Given the description of an element on the screen output the (x, y) to click on. 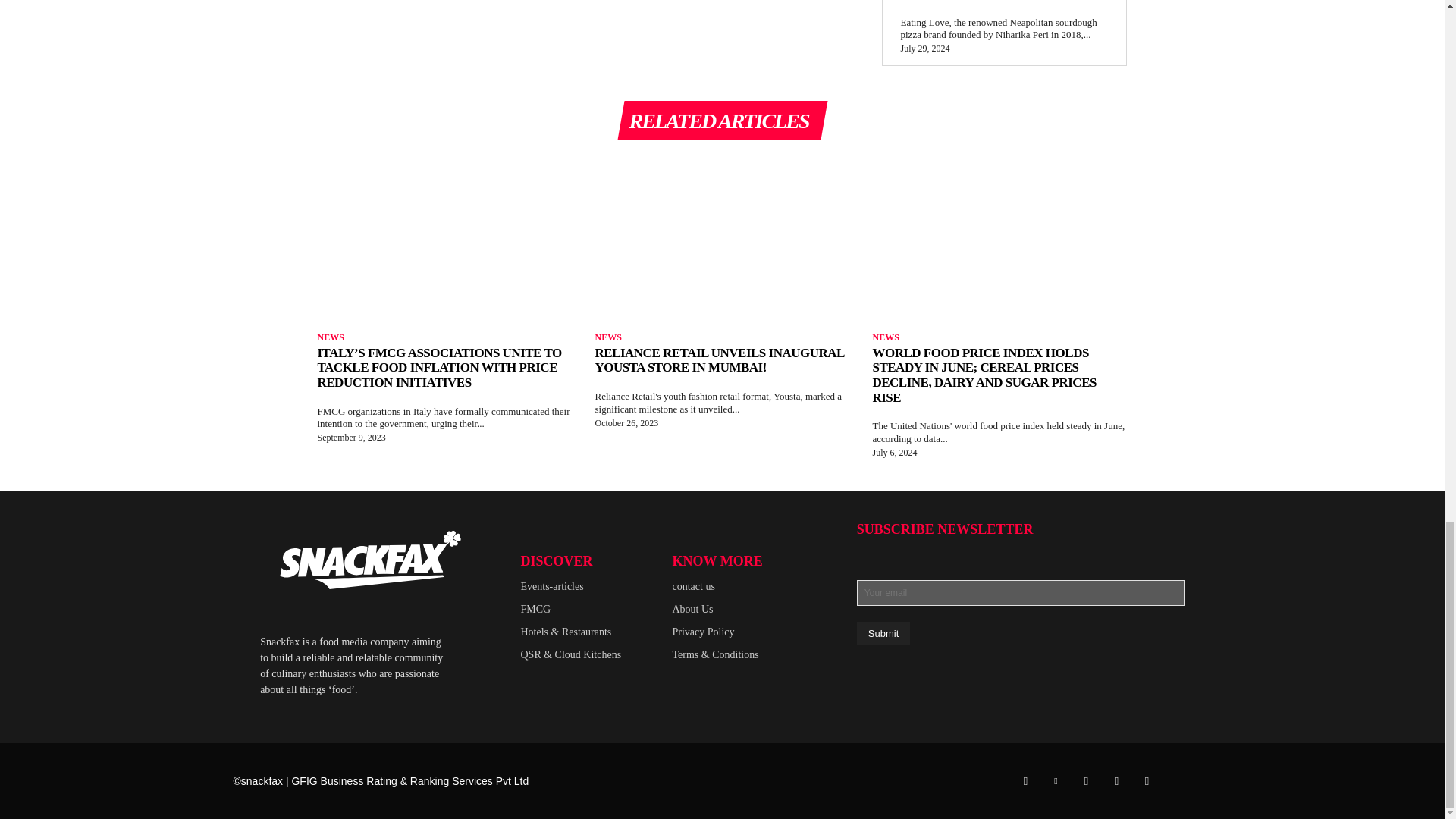
Submit (883, 633)
